Given the description of an element on the screen output the (x, y) to click on. 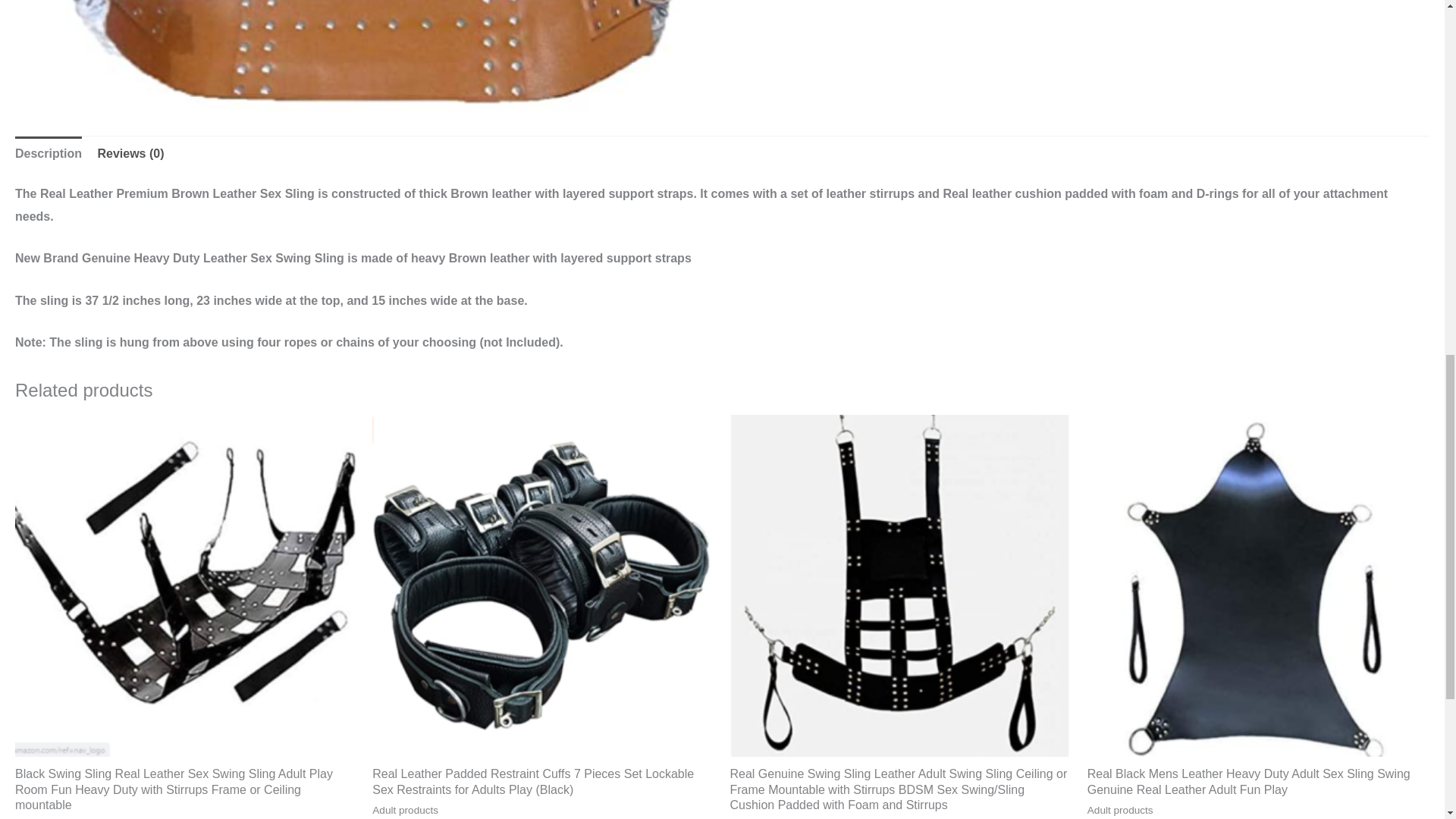
6 (368, 55)
Description (47, 153)
